Given the description of an element on the screen output the (x, y) to click on. 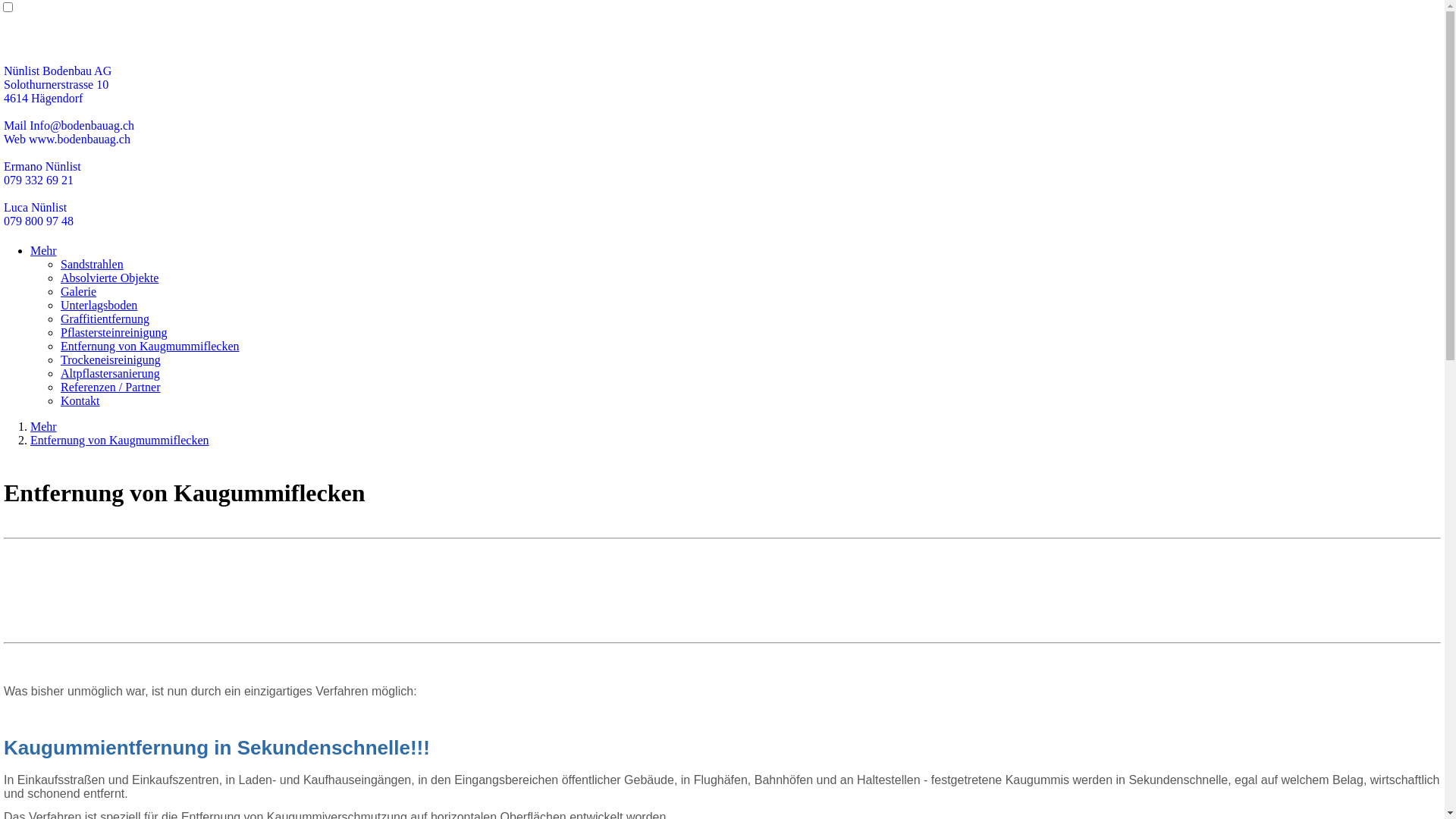
Absolvierte Objekte Element type: text (109, 277)
Pflastersteinreinigung Element type: text (113, 332)
Entfernung von Kaugmummiflecken Element type: text (149, 345)
Trockeneisreinigung Element type: text (110, 359)
Graffitientfernung Element type: text (104, 318)
Unterlagsboden Element type: text (98, 304)
Sandstrahlen Element type: text (91, 263)
Altpflastersanierung Element type: text (110, 373)
Galerie Element type: text (78, 291)
Mehr Element type: text (43, 250)
Referenzen / Partner Element type: text (110, 386)
Entfernung von Kaugmummiflecken Element type: text (119, 439)
Mehr Element type: text (43, 426)
Kontakt Element type: text (80, 400)
